Given the description of an element on the screen output the (x, y) to click on. 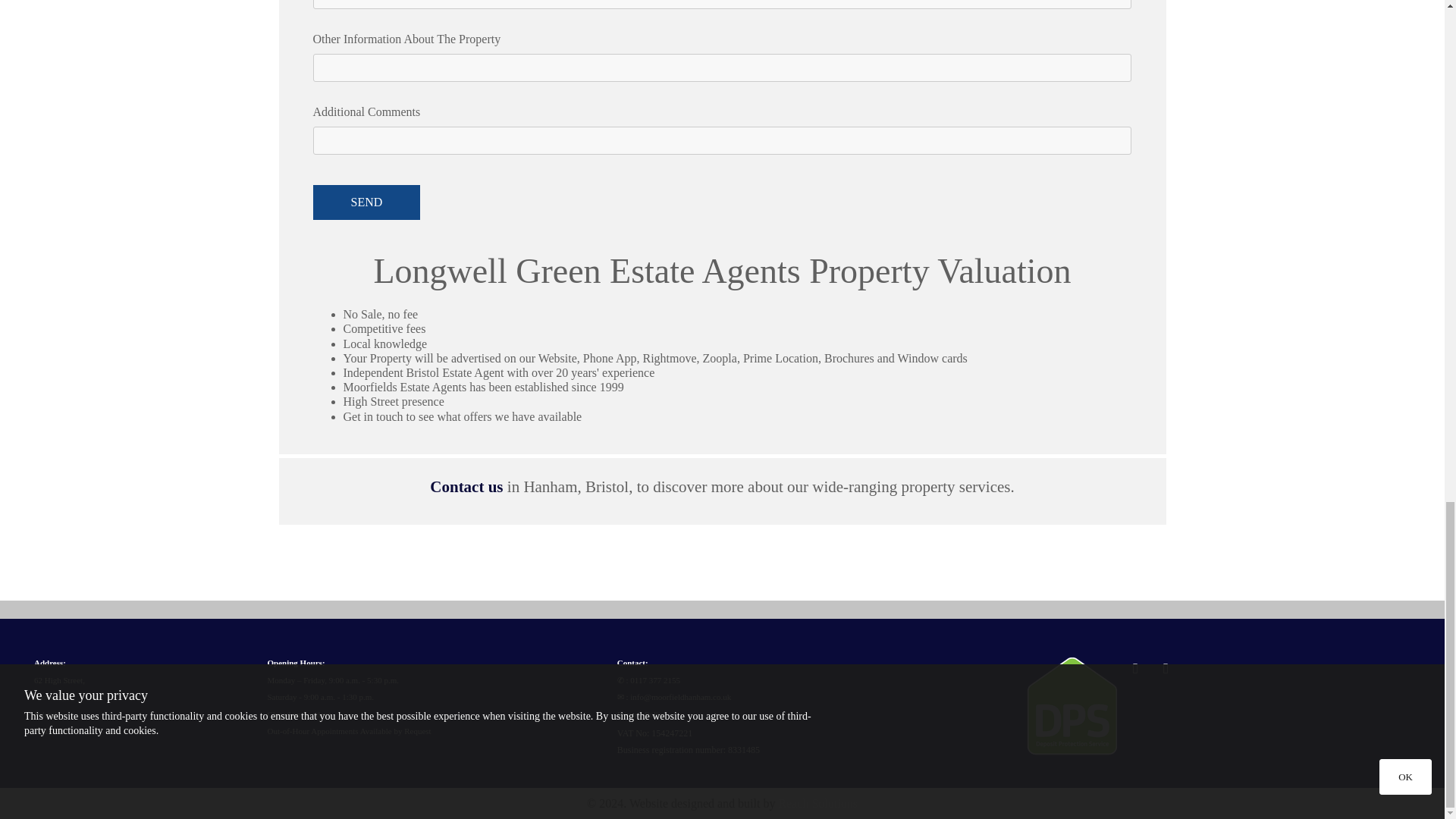
Send (366, 202)
Contact us (465, 486)
Facebook (1135, 667)
Privacy Policy (641, 714)
Twitter (1165, 667)
Send (366, 202)
